Given the description of an element on the screen output the (x, y) to click on. 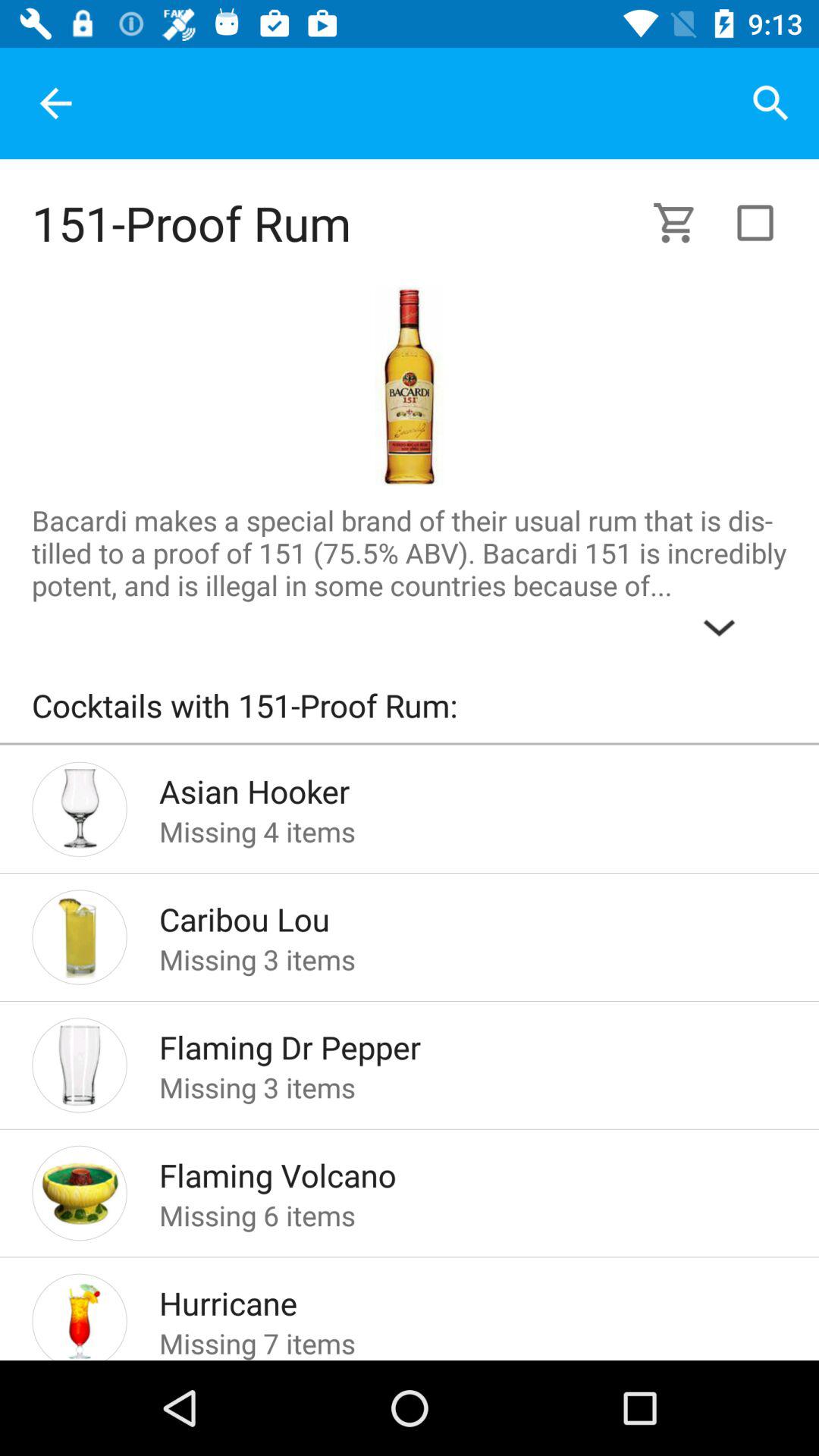
turn off icon above cocktails with 151 (409, 576)
